Given the description of an element on the screen output the (x, y) to click on. 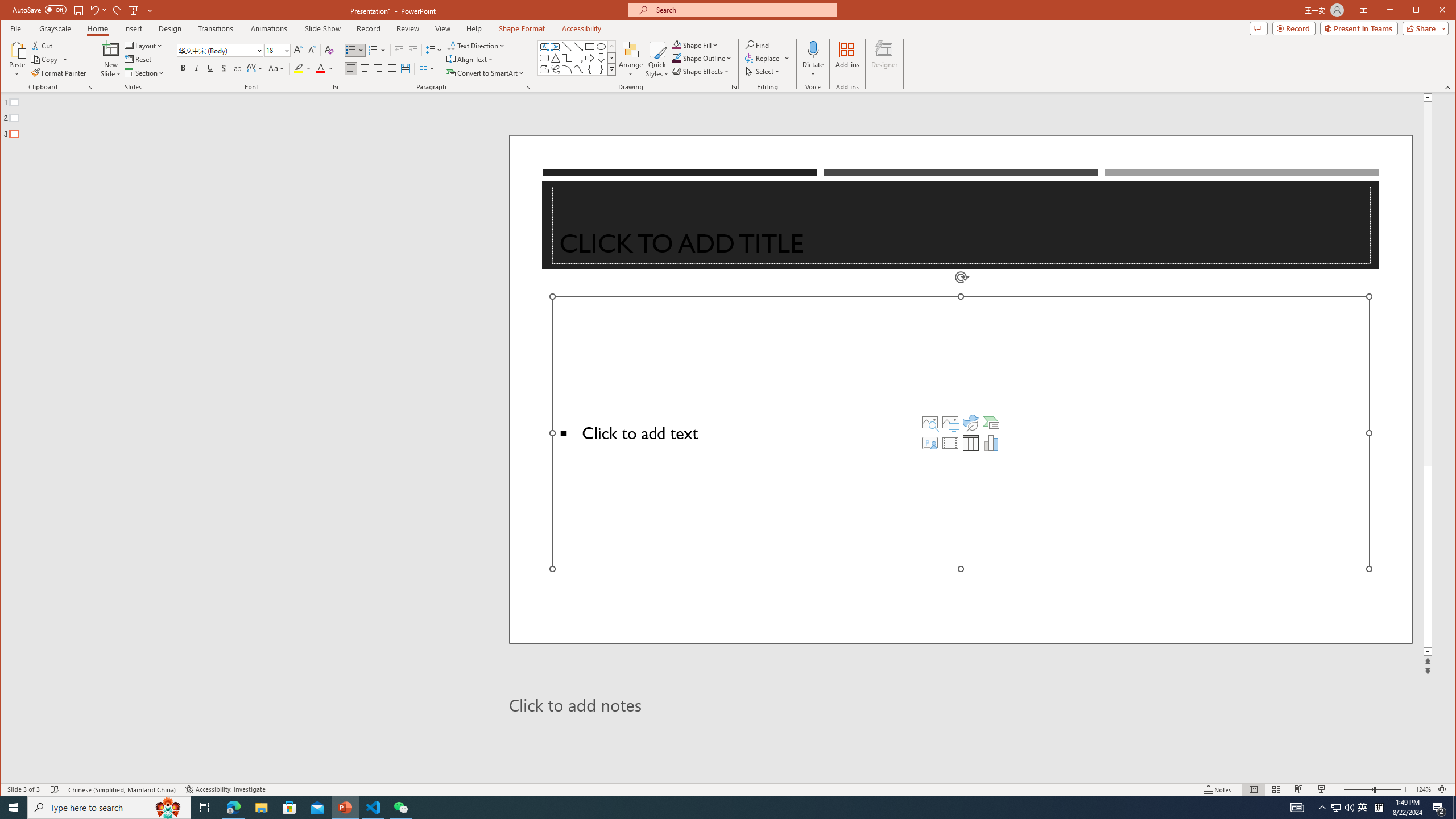
Insert Chart (991, 443)
